Given the description of an element on the screen output the (x, y) to click on. 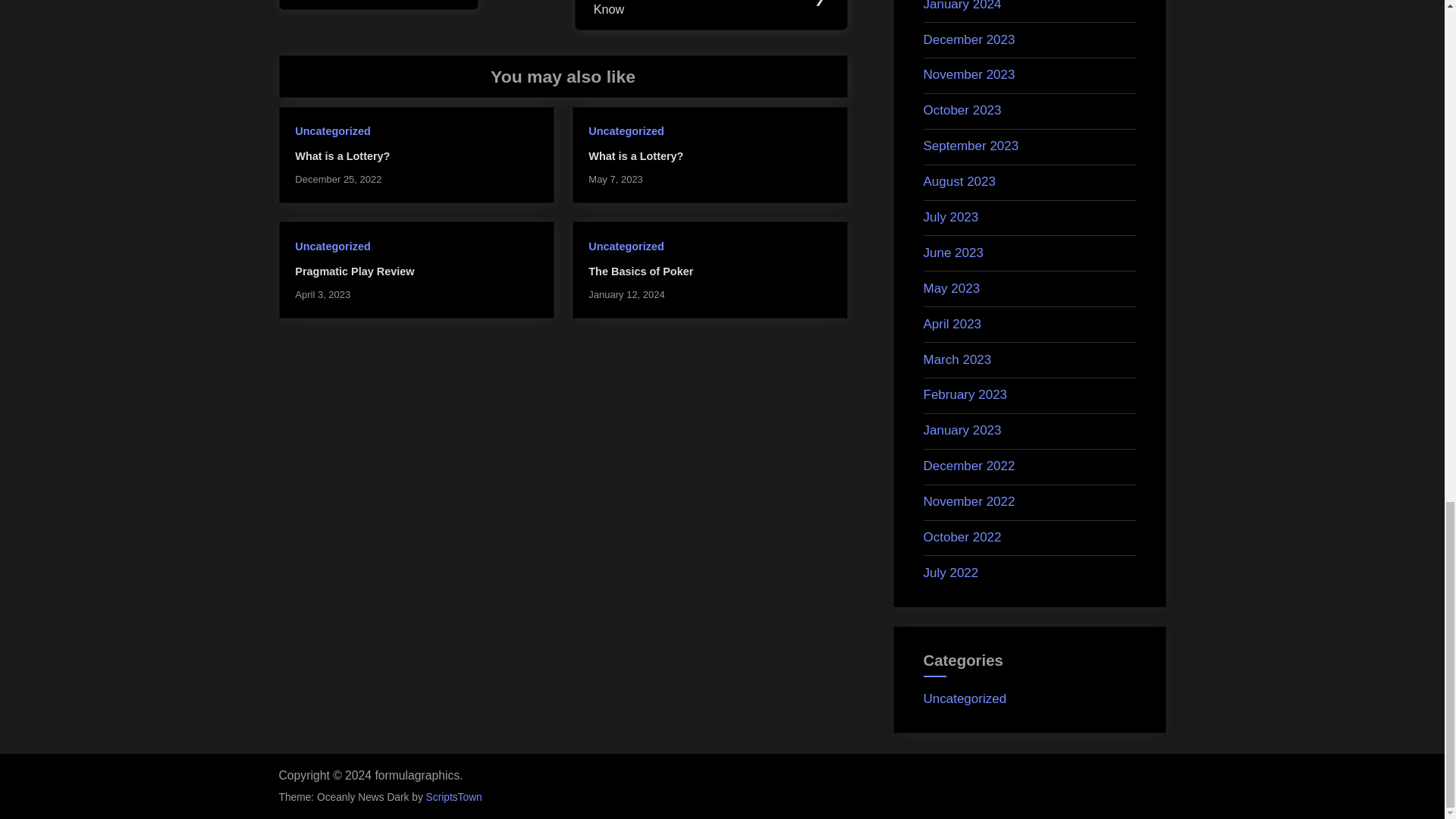
Pragmatic Play Review (354, 271)
The Basics of Poker (640, 271)
January 2024 (962, 5)
December 2023 (968, 39)
Uncategorized (625, 131)
October 2023 (962, 110)
Uncategorized (332, 131)
What is a Lottery? (342, 155)
What is a Lottery? (635, 155)
September 2023 (971, 145)
